Given the description of an element on the screen output the (x, y) to click on. 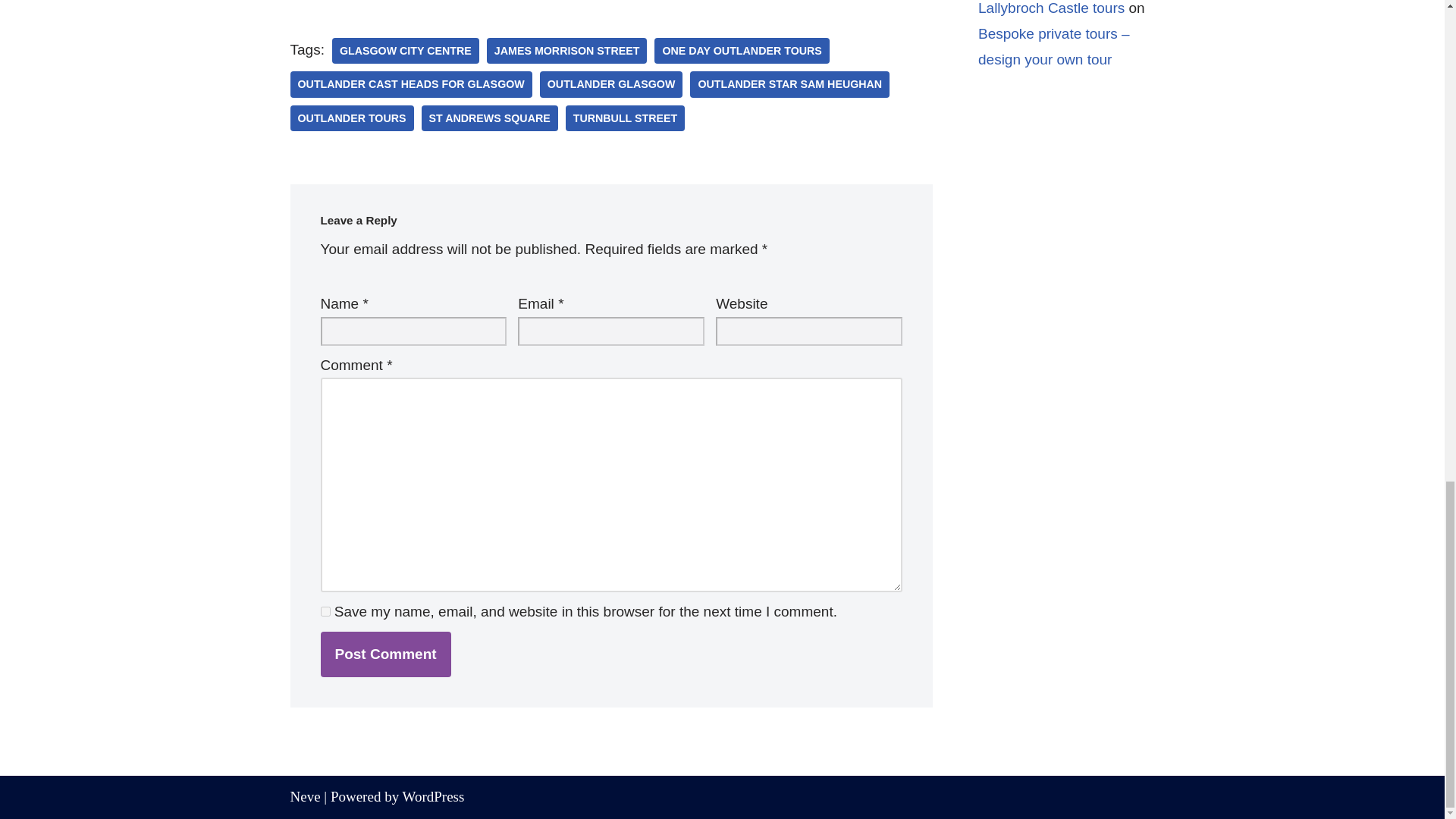
yes (325, 611)
ONE DAY OUTLANDER TOURS (740, 50)
OUTLANDER TOURS (351, 118)
Outlander tours (351, 118)
ST ANDREWS SQUARE (489, 118)
Post Comment (384, 654)
JAMES MORRISON STREET (566, 50)
St Andrews Square (489, 118)
Outlander star Sam Heughan (789, 84)
OUTLANDER CAST HEADS FOR GLASGOW (410, 84)
